Given the description of an element on the screen output the (x, y) to click on. 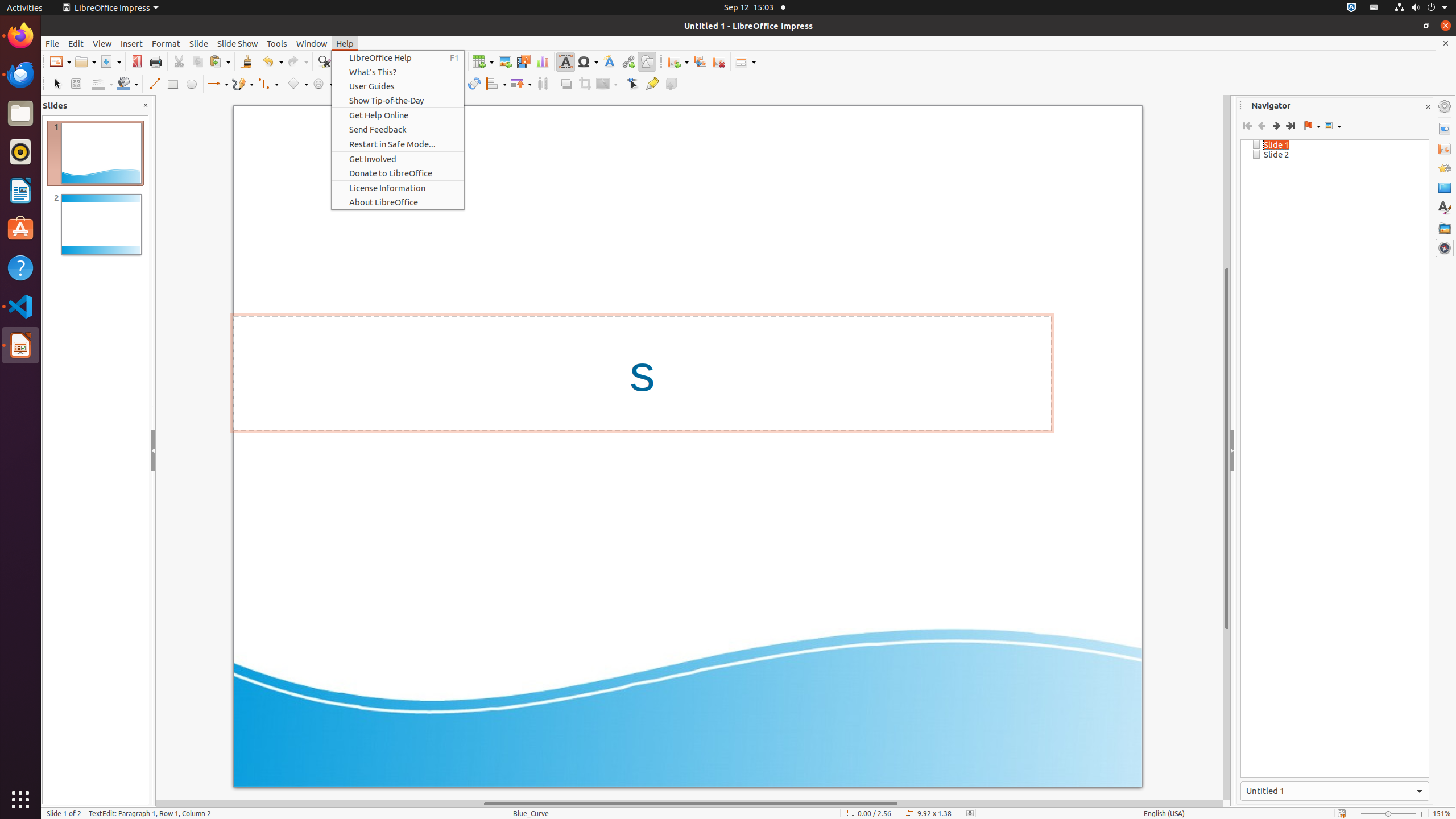
Format Element type: menu (165, 43)
User Guides Element type: menu-item (397, 86)
Window Element type: menu (311, 43)
Restart in Safe Mode... Element type: menu-item (397, 144)
